Given the description of an element on the screen output the (x, y) to click on. 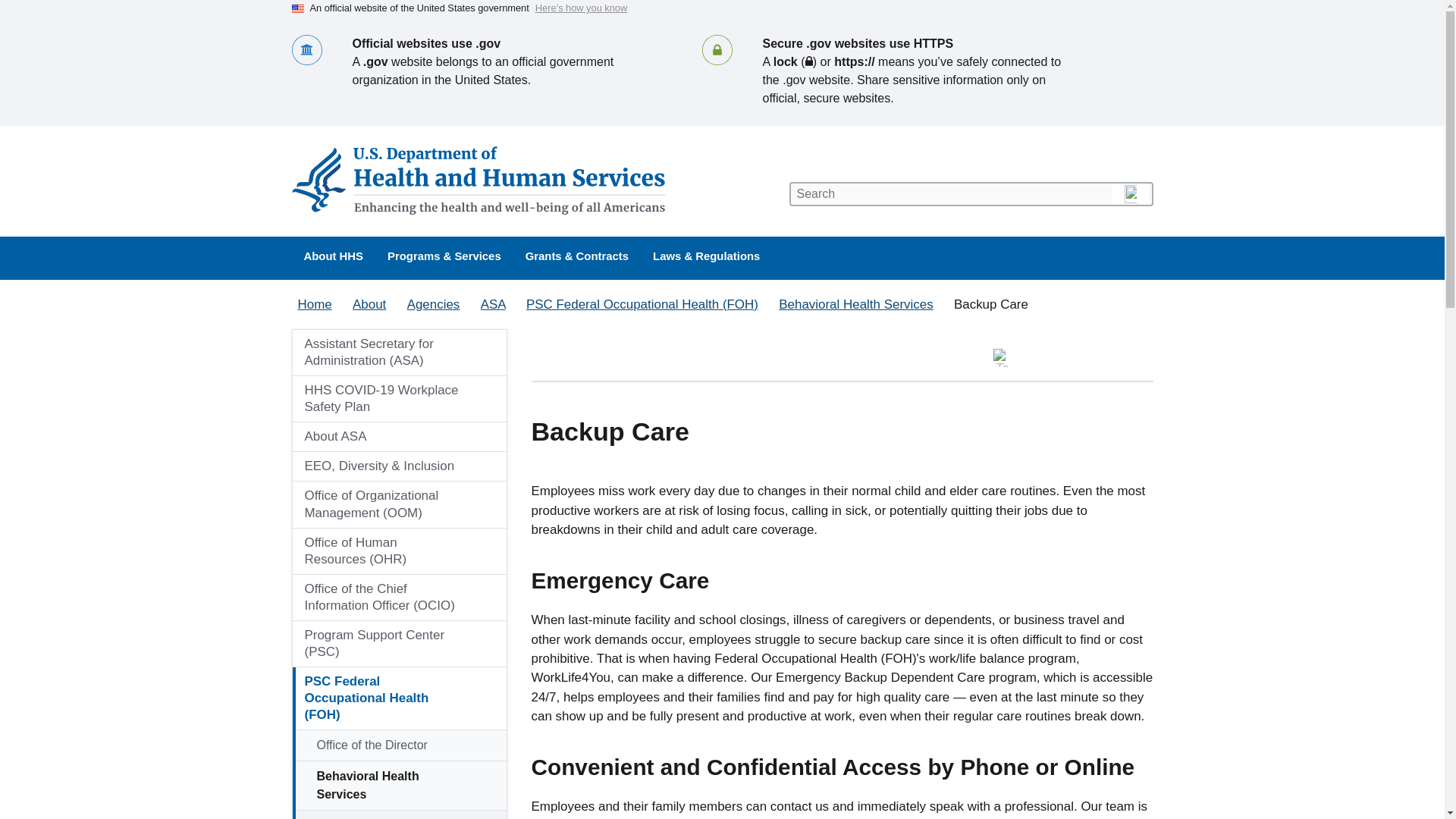
About HHS (333, 257)
Search (1130, 194)
Home (314, 304)
About (368, 304)
About ASA (399, 436)
Email (1137, 357)
Facebook (1069, 357)
X (1104, 357)
Behavioral Health Services (855, 304)
Print (1035, 357)
Agencies (433, 304)
Home (480, 180)
HHS COVID-19 Workplace Safety Plan (399, 398)
Skip to main content (721, 6)
ASA (492, 304)
